Given the description of an element on the screen output the (x, y) to click on. 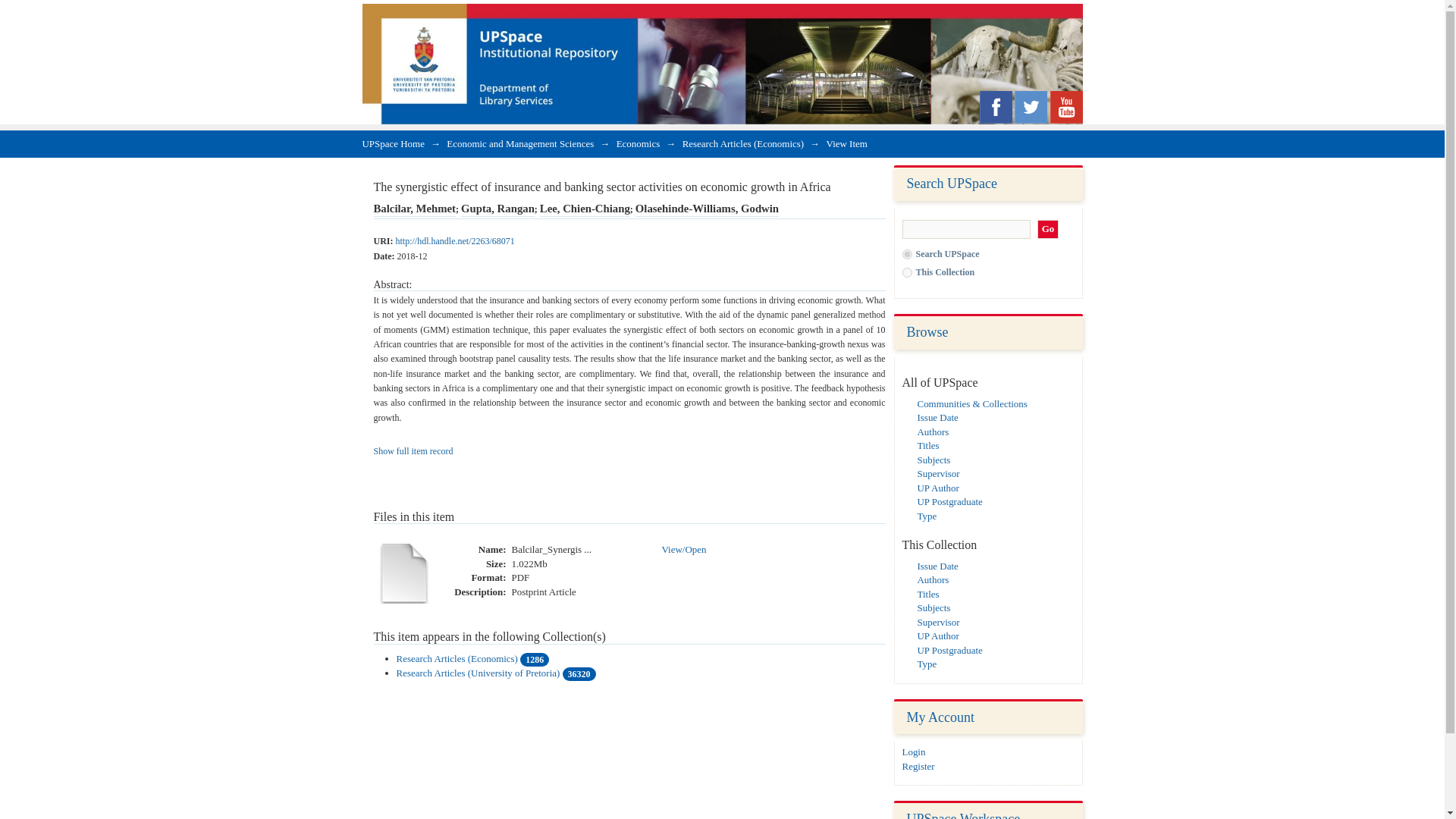
UPSpace Workspace (963, 815)
Supervisor (938, 622)
Supervisor (938, 473)
Issue Date (937, 565)
Register (918, 766)
Authors (933, 579)
Show full item record (412, 450)
Go (1047, 229)
Type (927, 663)
Issue Date (937, 417)
